Given the description of an element on the screen output the (x, y) to click on. 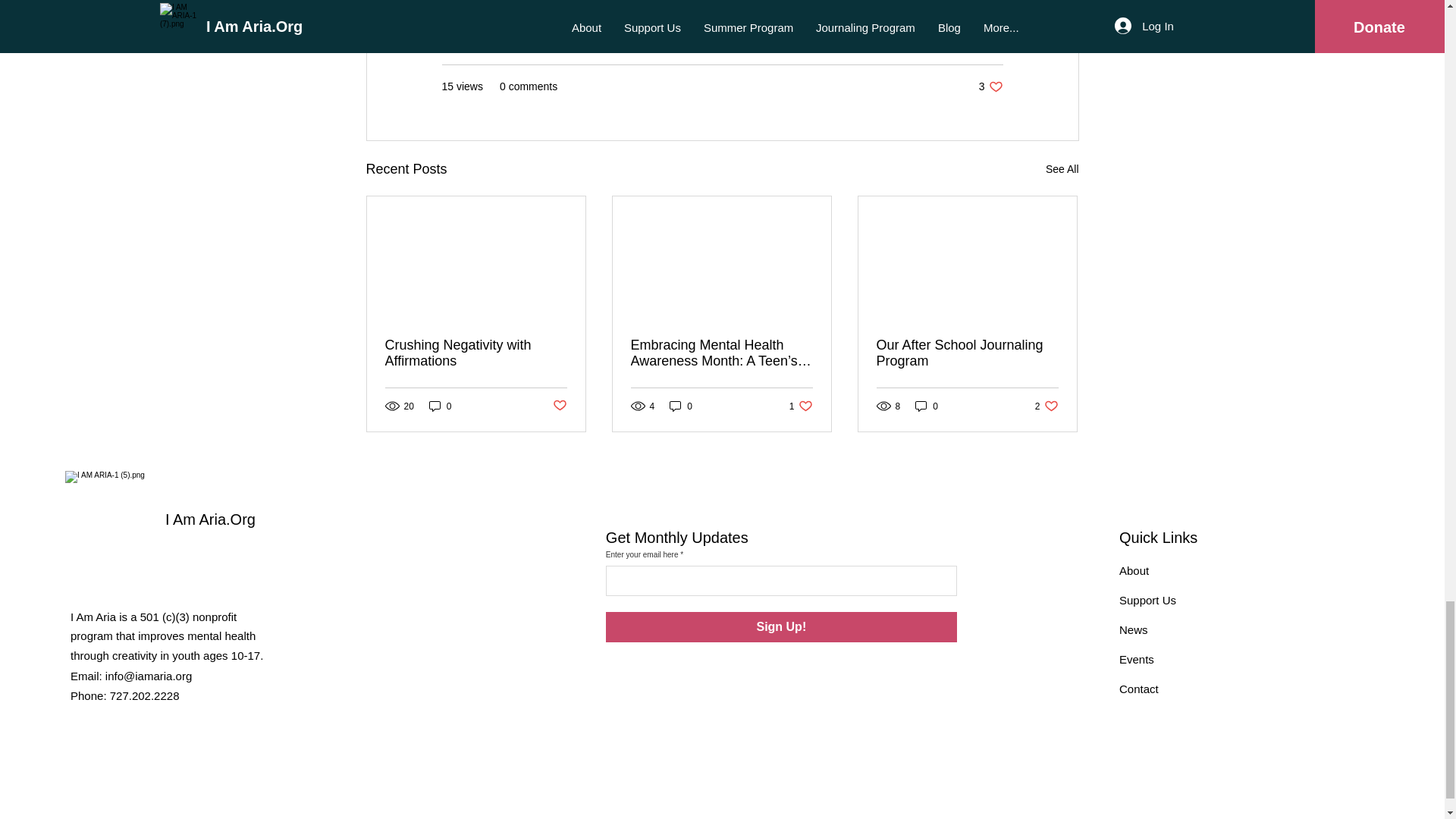
0 (1046, 405)
Our After School Journaling Program (681, 405)
0 (967, 353)
Sign Up! (800, 405)
Crushing Negativity with Affirmations (440, 405)
Events (780, 626)
Post not marked as liked (476, 353)
News (1136, 658)
